Given the description of an element on the screen output the (x, y) to click on. 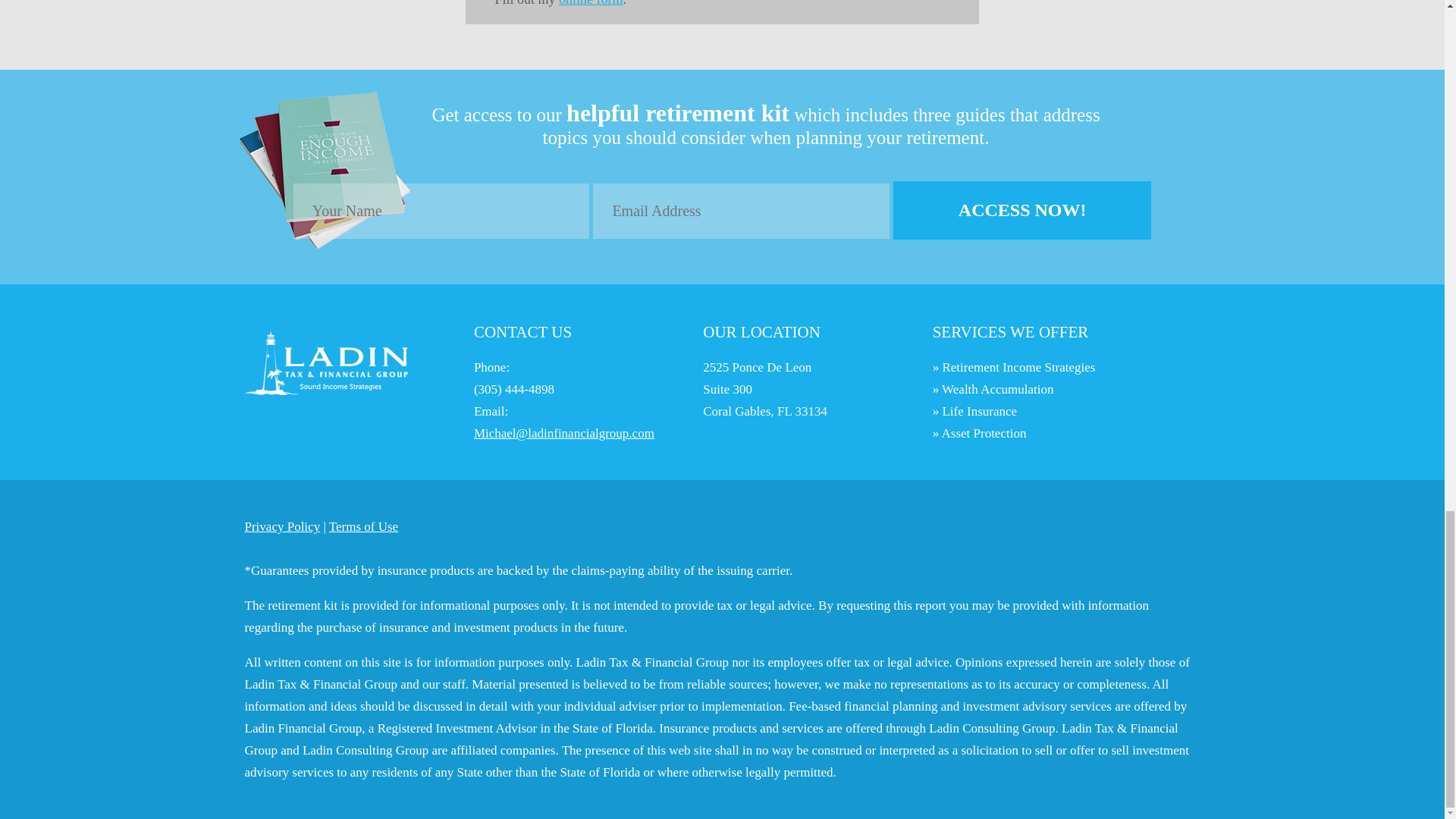
Access Now! (1022, 209)
Privacy Policy (282, 526)
online form (591, 3)
Access Now! (1022, 209)
Terms of Use (363, 526)
